Given the description of an element on the screen output the (x, y) to click on. 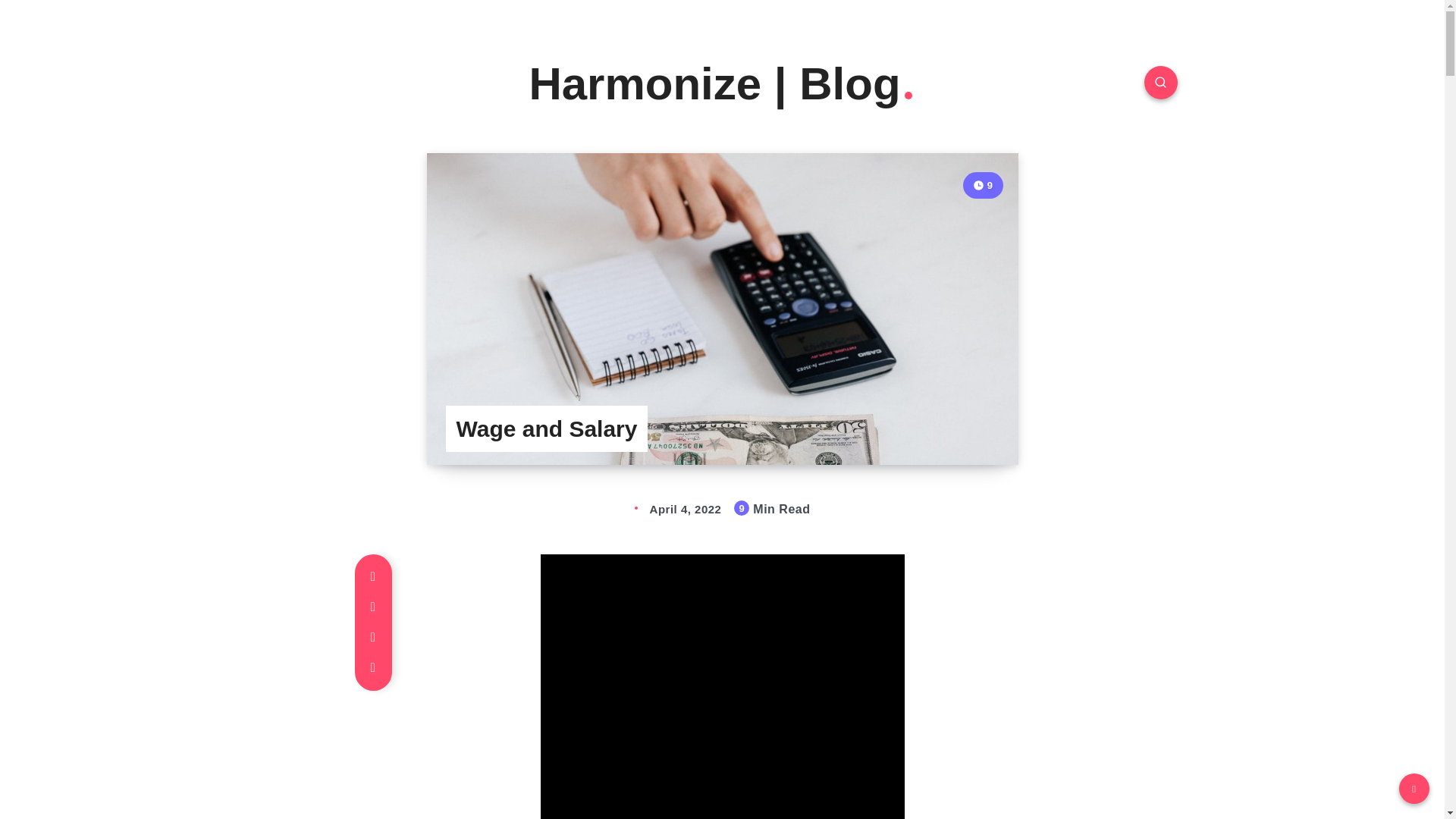
9 Min Read (982, 185)
